Given the description of an element on the screen output the (x, y) to click on. 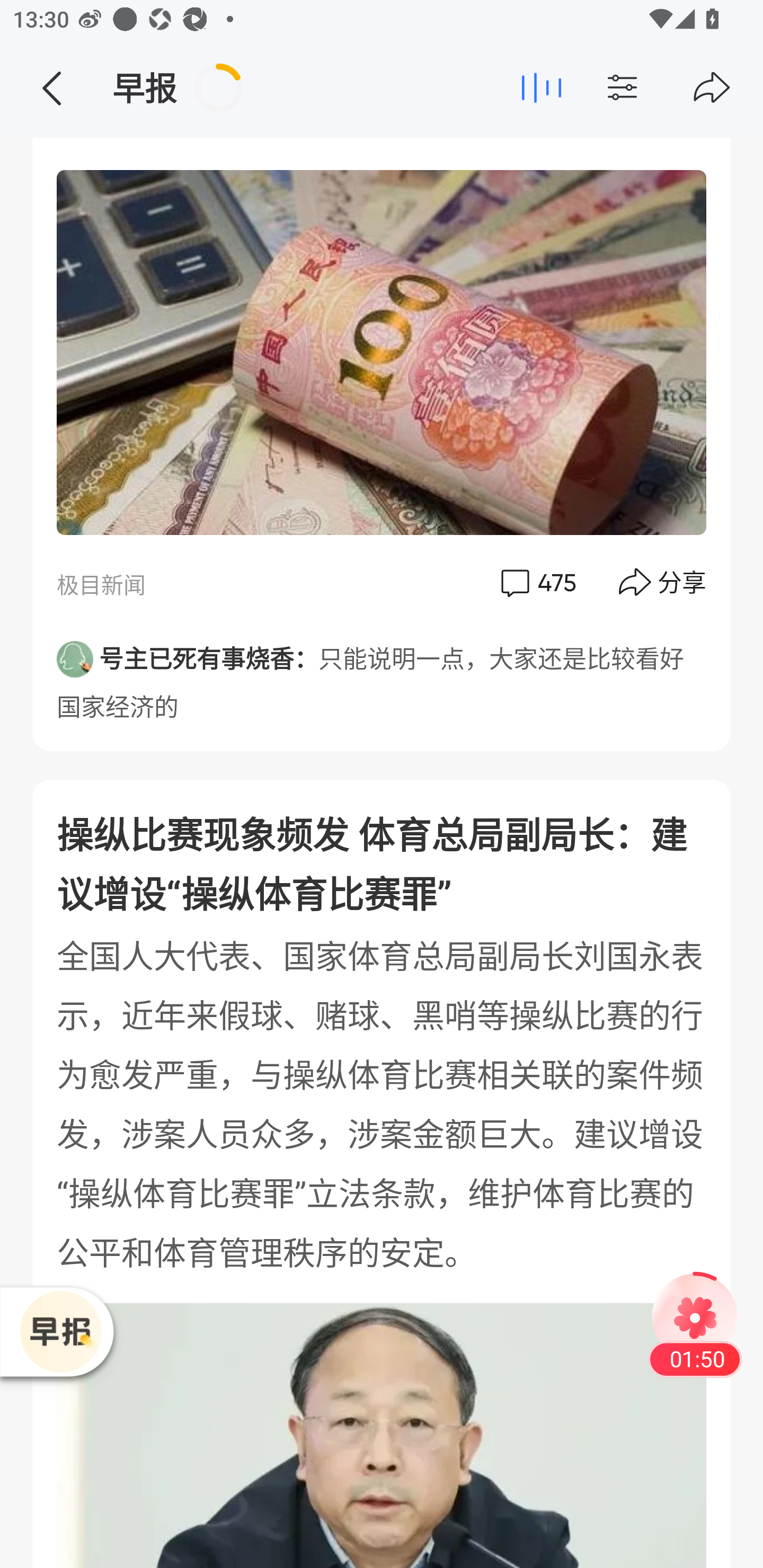
 (50, 87)
 (656, 87)
 (711, 87)
评论  475 (536, 582)
 分享 (663, 582)
  号主已死有事烧香：只能说明一点，大家还是比较看好国家经济的 (381, 676)
播放器 (60, 1331)
